Given the description of an element on the screen output the (x, y) to click on. 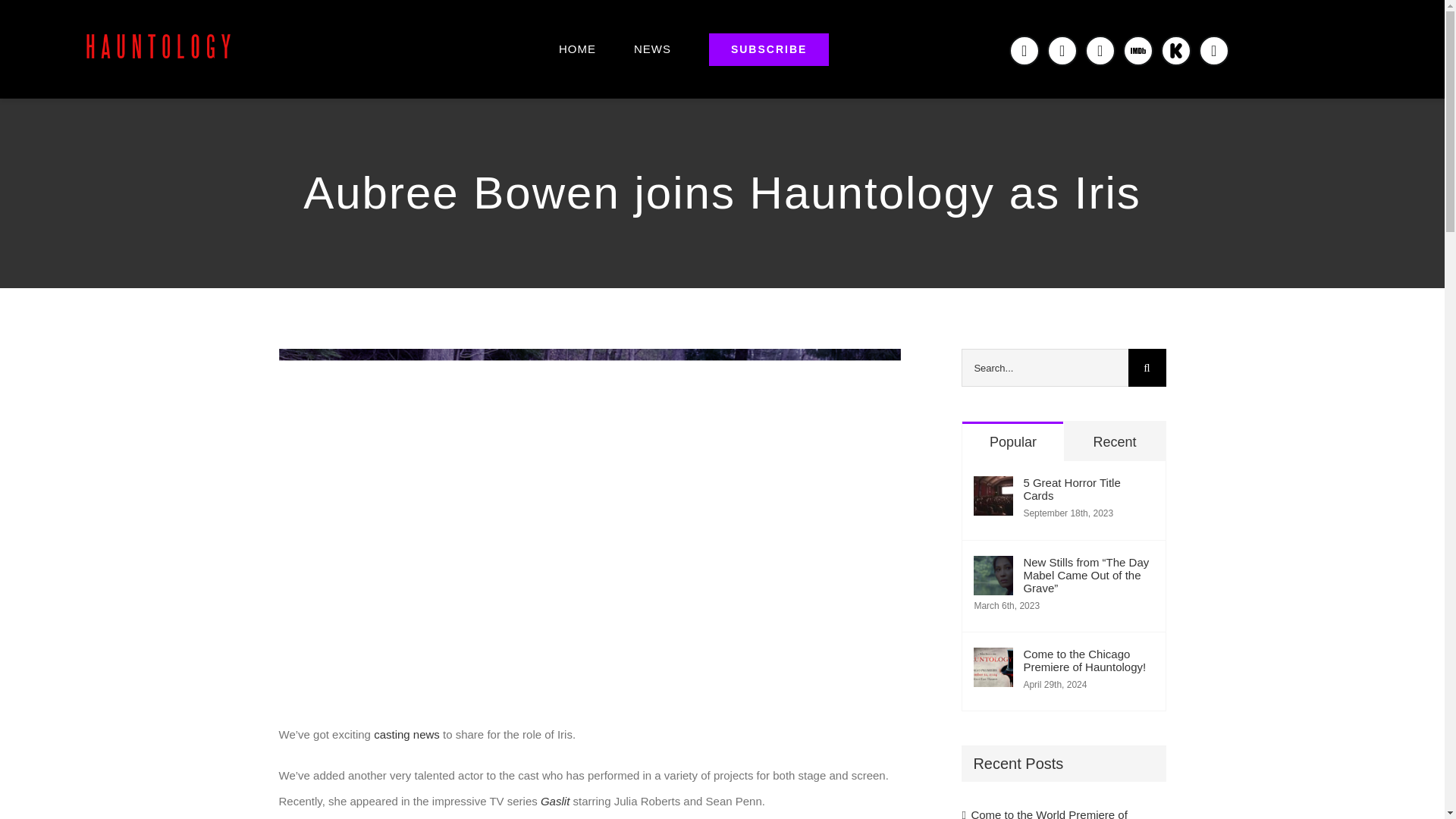
Kickstarter (1175, 50)
Instagram (1099, 50)
IMDb (1137, 50)
casting news (406, 734)
Facebook (1024, 50)
SUBSCRIBE (768, 49)
Twitter (1061, 50)
Tiktok (1213, 50)
Gaslit (554, 800)
